Given the description of an element on the screen output the (x, y) to click on. 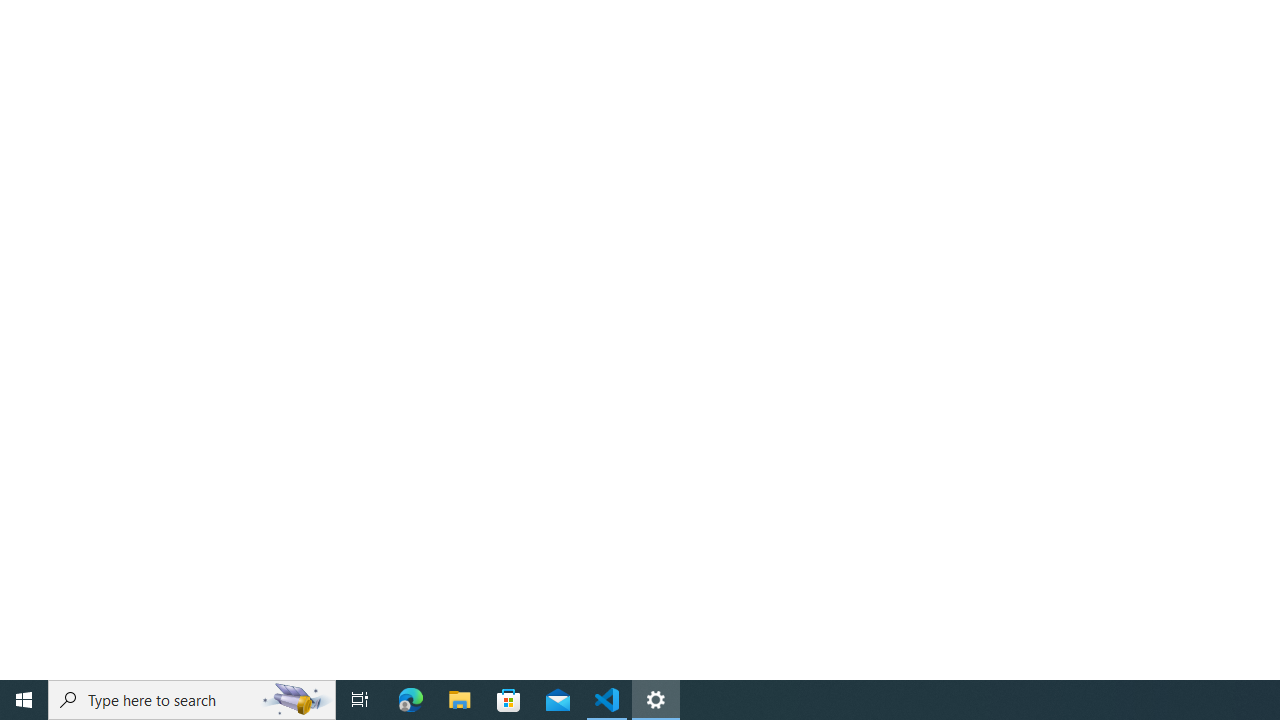
Settings - 1 running window (656, 699)
